Given the description of an element on the screen output the (x, y) to click on. 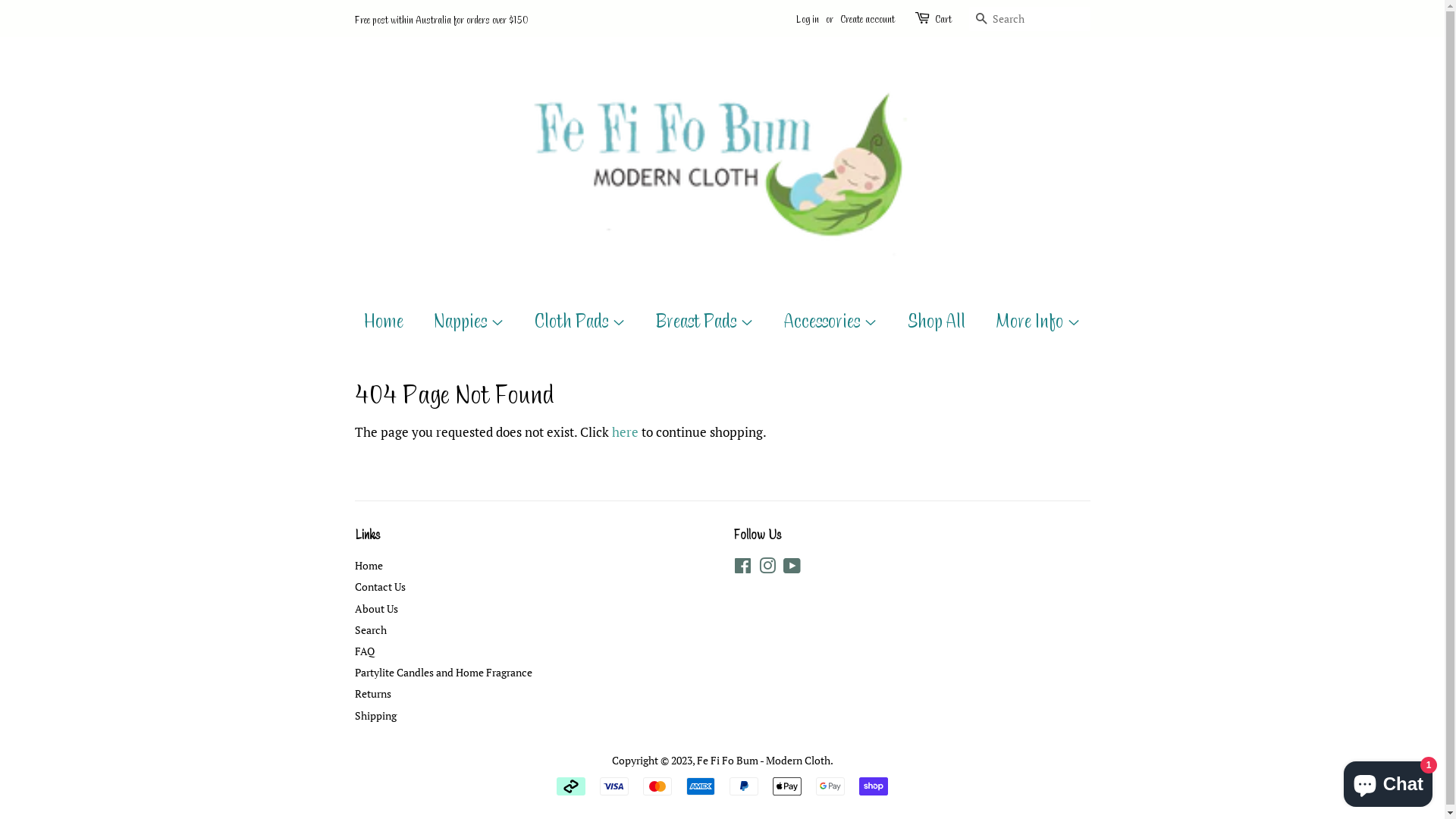
Shop All Element type: text (938, 320)
FAQ Element type: text (364, 650)
More Info Element type: text (1032, 320)
Fe Fi Fo Bum - Modern Cloth Element type: text (762, 760)
Cloth Pads Element type: text (581, 320)
Cart Element type: text (942, 18)
Shopify online store chat Element type: hover (1388, 780)
Partylite Candles and Home Fragrance Element type: text (443, 672)
Breast Pads Element type: text (706, 320)
Shipping Element type: text (375, 715)
About Us Element type: text (376, 608)
Home Element type: text (391, 320)
here Element type: text (624, 431)
Contact Us Element type: text (379, 586)
Search Element type: text (370, 629)
Log in Element type: text (807, 18)
Instagram Element type: text (766, 568)
Accessories Element type: text (832, 320)
Create account Element type: text (867, 18)
Nappies Element type: text (470, 320)
Home Element type: text (368, 565)
Returns Element type: text (372, 693)
Facebook Element type: text (742, 568)
YouTube Element type: text (791, 568)
Search Element type: text (981, 18)
